Given the description of an element on the screen output the (x, y) to click on. 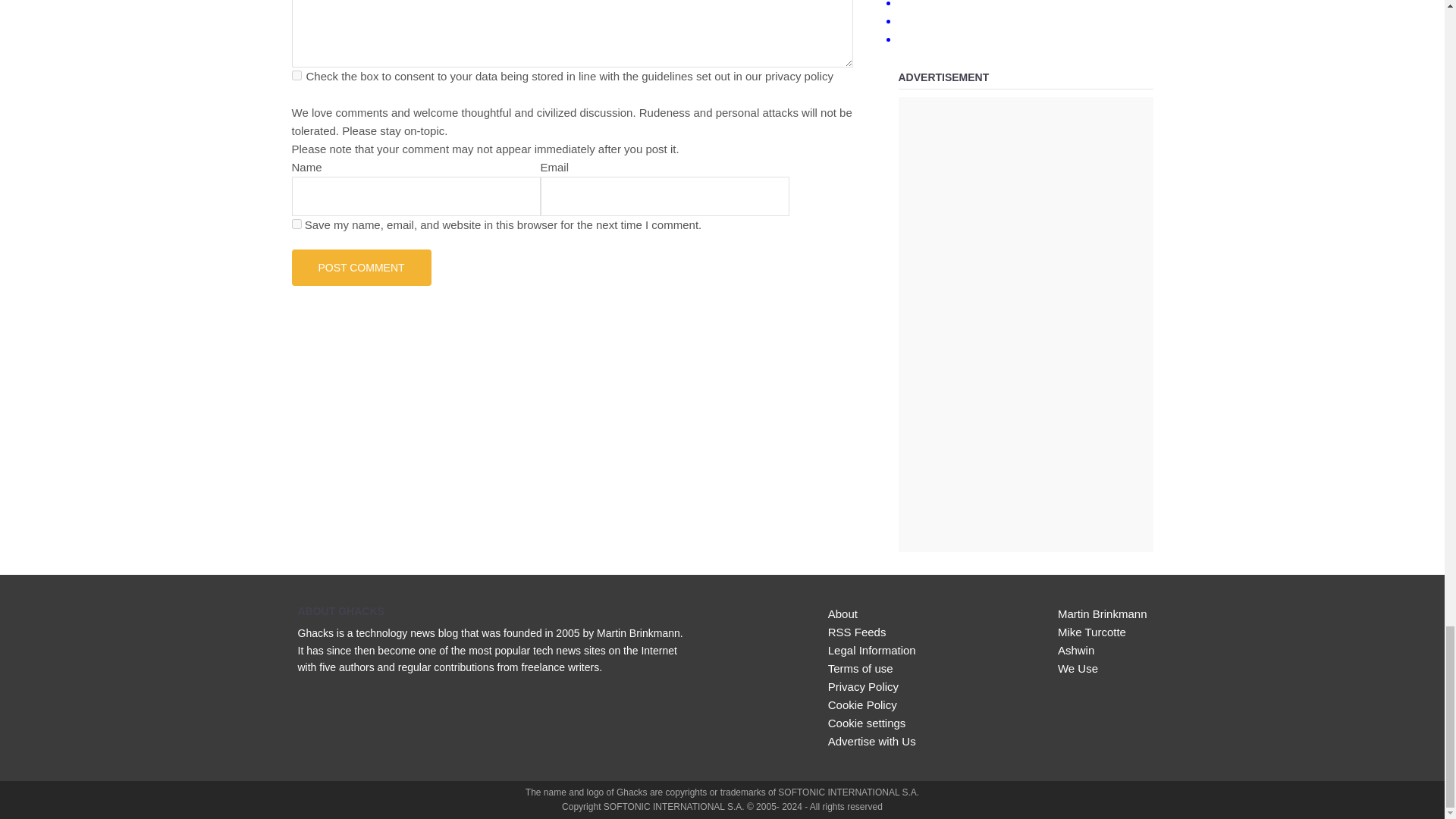
yes (296, 224)
Post Comment (360, 267)
privacy-key (296, 75)
